Given the description of an element on the screen output the (x, y) to click on. 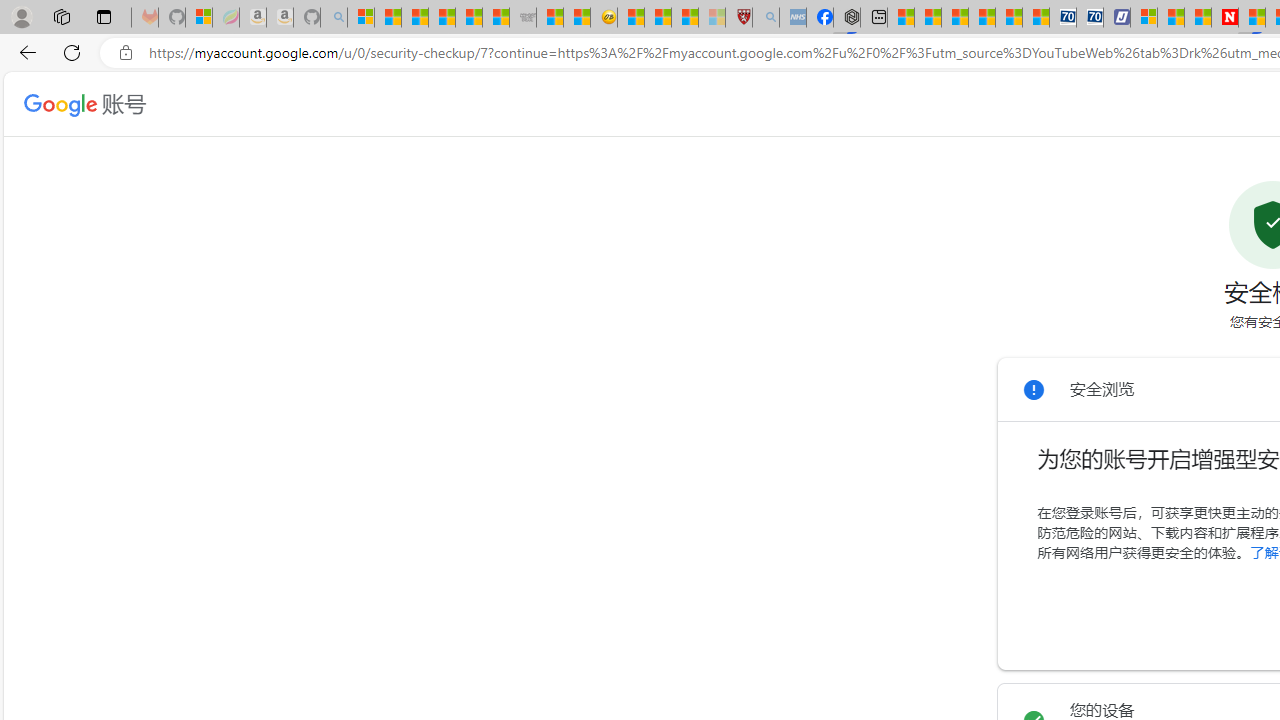
12 Popular Science Lies that Must be Corrected - Sleeping (711, 17)
